Given the description of an element on the screen output the (x, y) to click on. 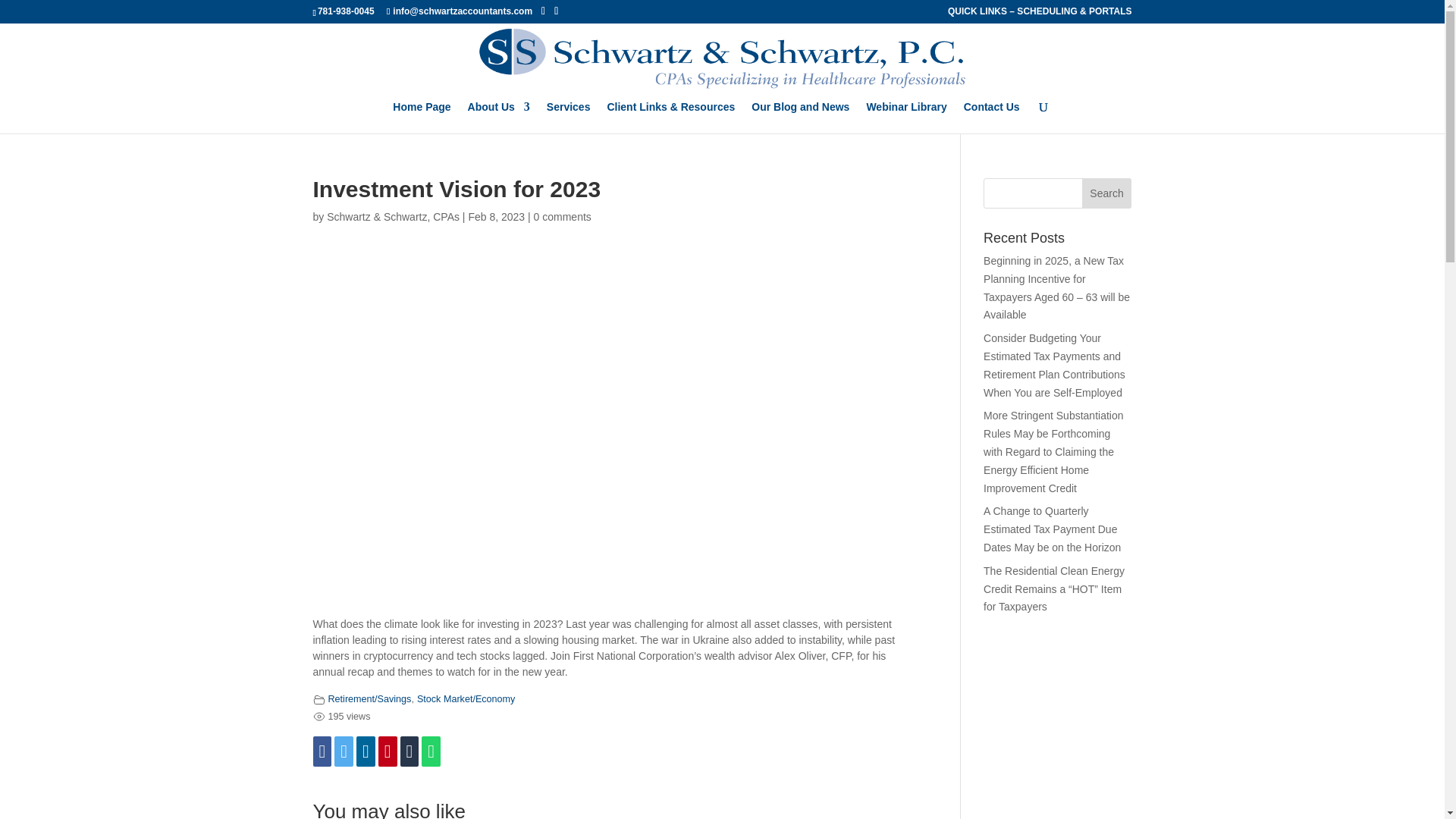
Contact Us (991, 117)
Search (1106, 193)
Webinar Library (906, 117)
Services (569, 117)
0 comments (562, 216)
Our Blog and News (799, 117)
About Us (498, 117)
Home Page (421, 117)
